Given the description of an element on the screen output the (x, y) to click on. 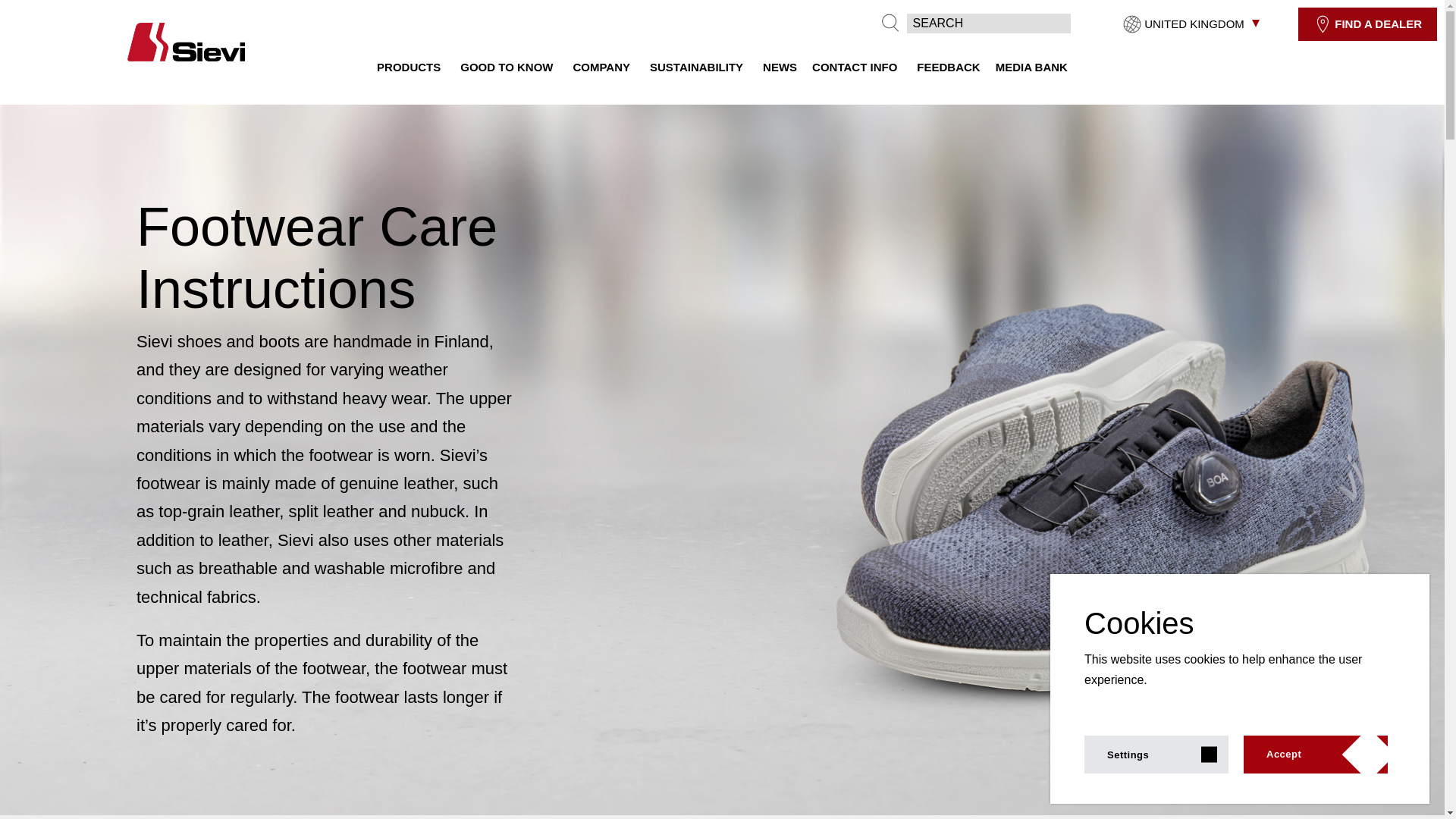
SUSTAINABILITY (698, 66)
GOOD TO KNOW (508, 66)
CONTACT INFO (856, 66)
COMPANY (603, 66)
NEWS (779, 66)
PRODUCTS (411, 66)
